Given the description of an element on the screen output the (x, y) to click on. 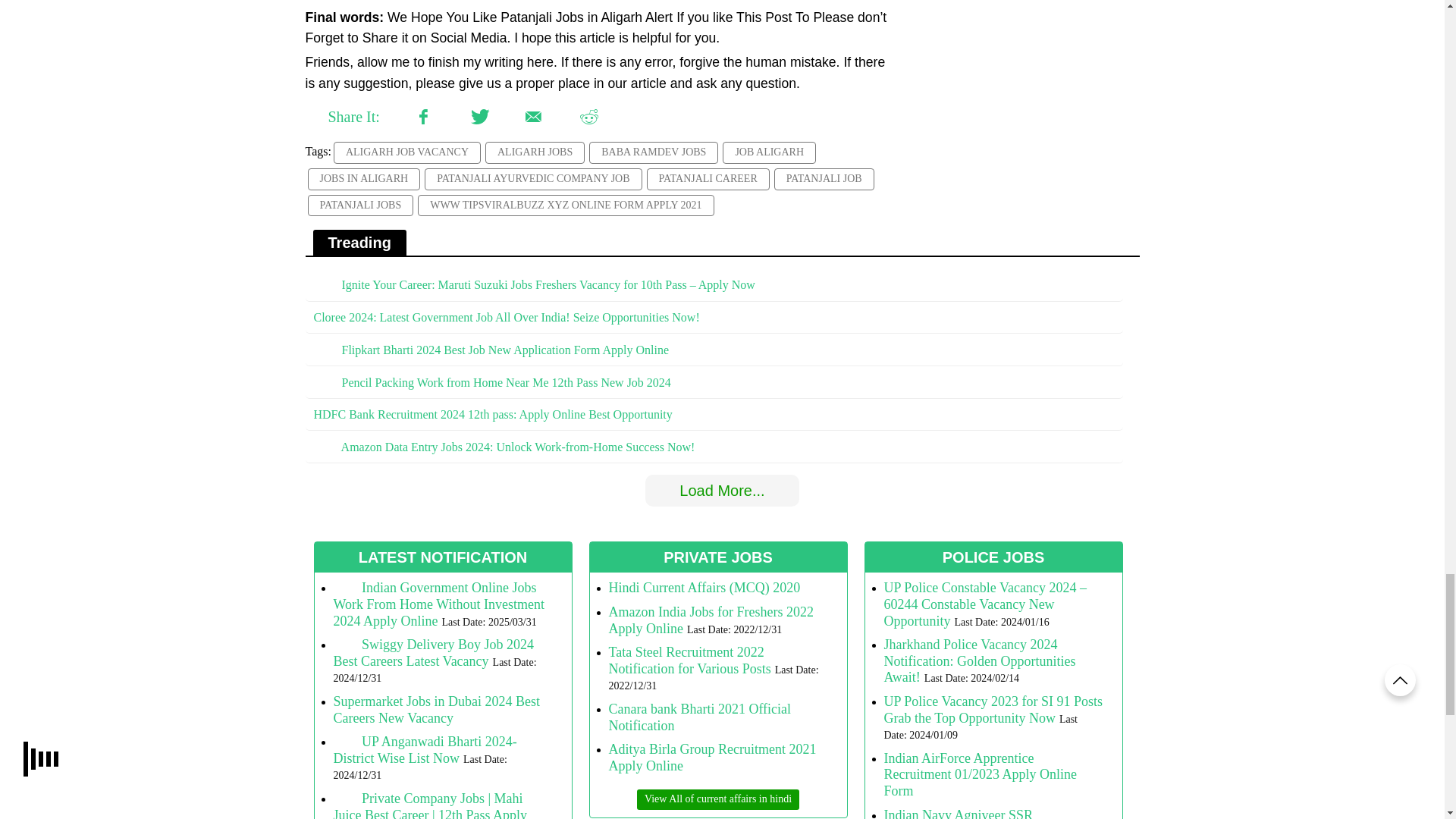
Category Name (718, 799)
